Given the description of an element on the screen output the (x, y) to click on. 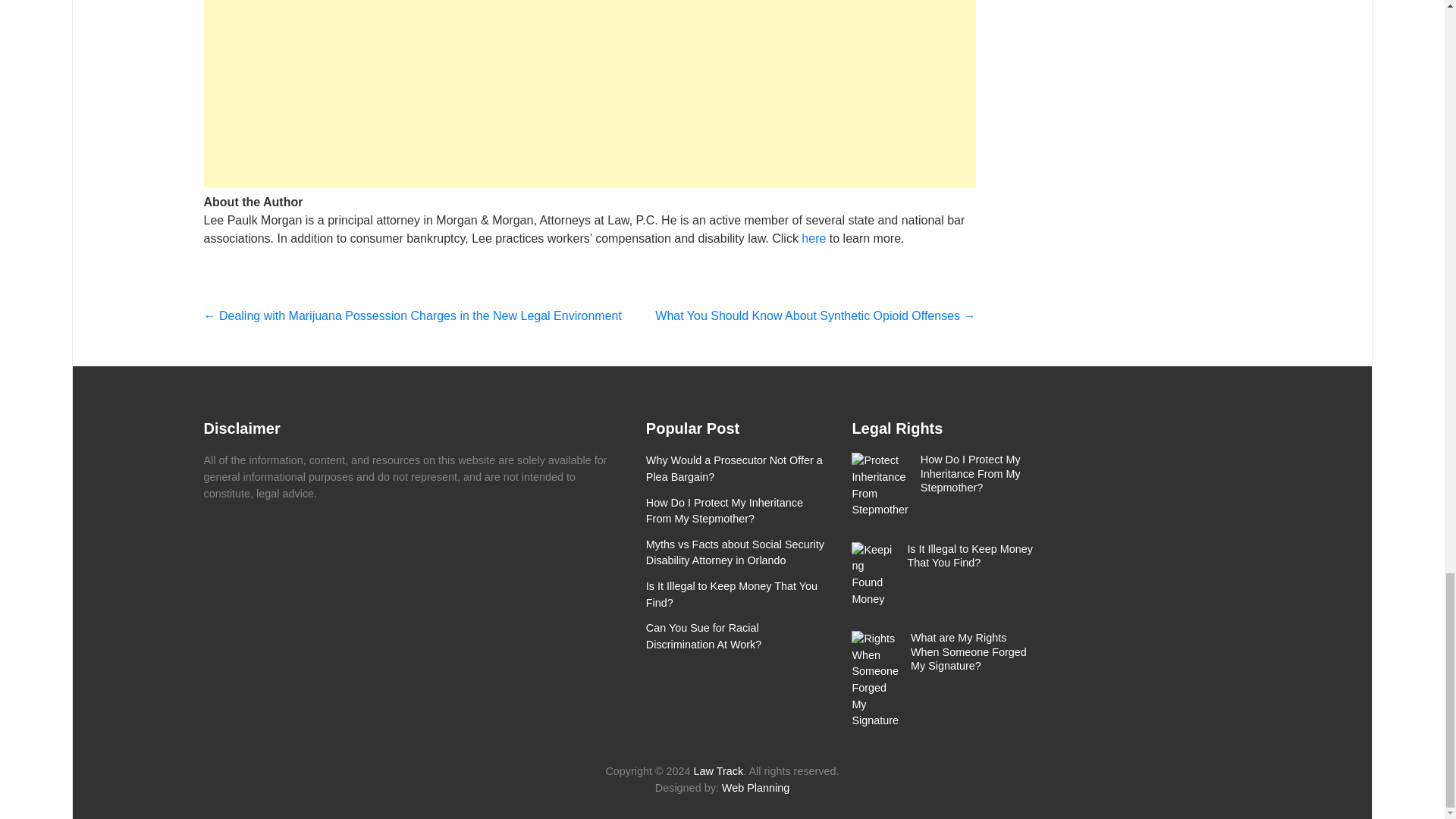
here (813, 237)
